Given the description of an element on the screen output the (x, y) to click on. 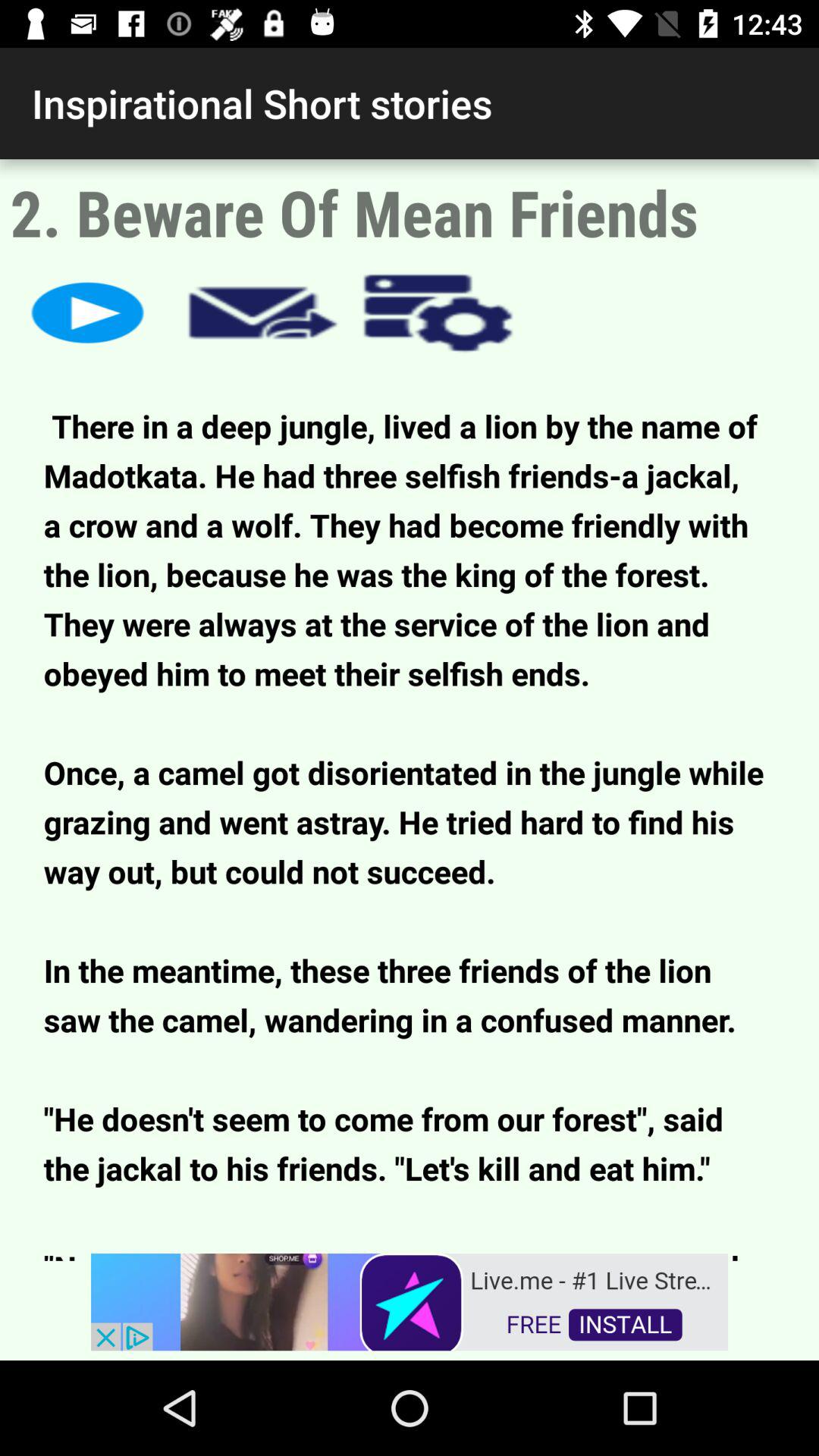
go to play option (87, 312)
